Given the description of an element on the screen output the (x, y) to click on. 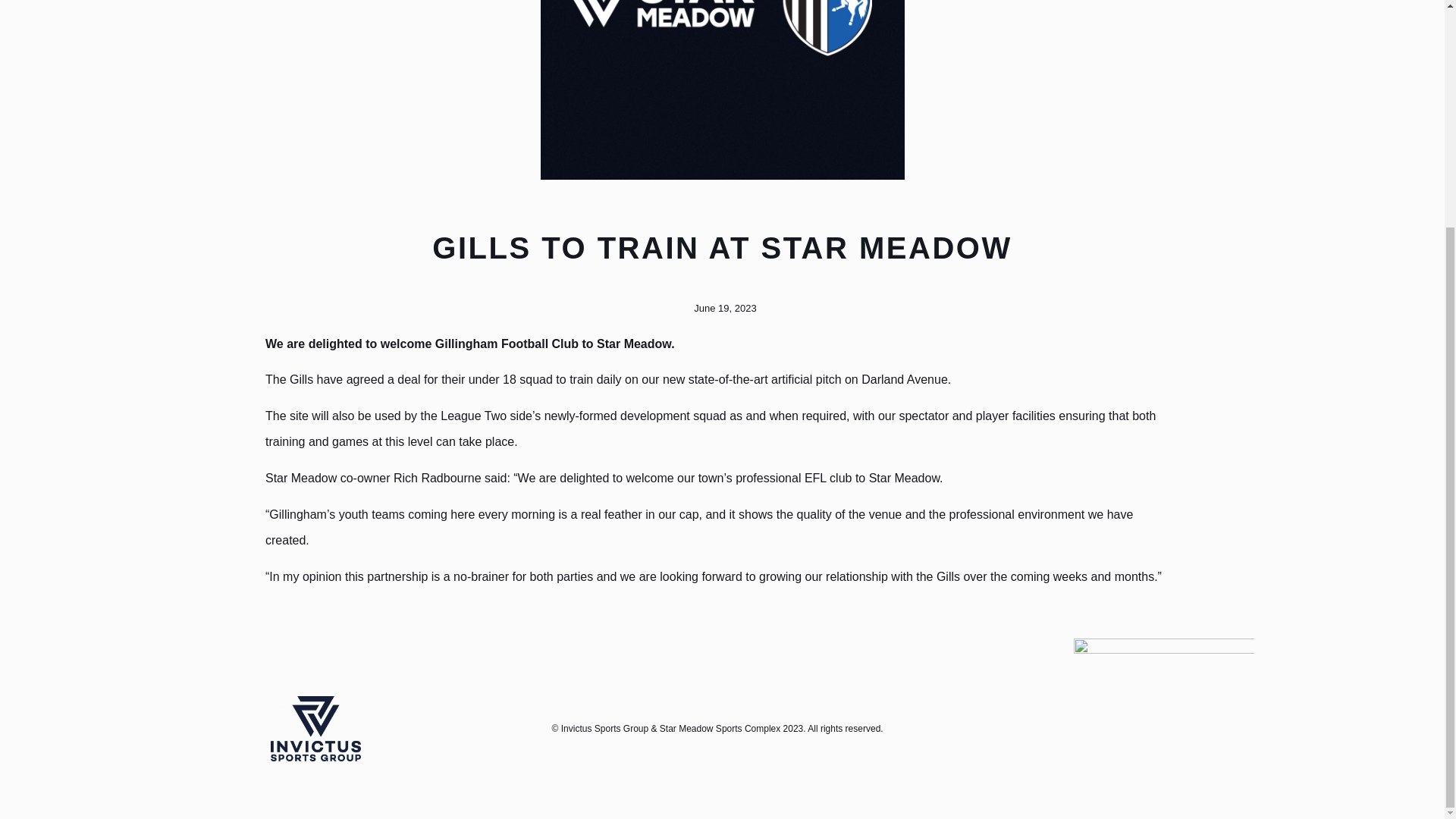
June 19, 2023 (721, 308)
